Given the description of an element on the screen output the (x, y) to click on. 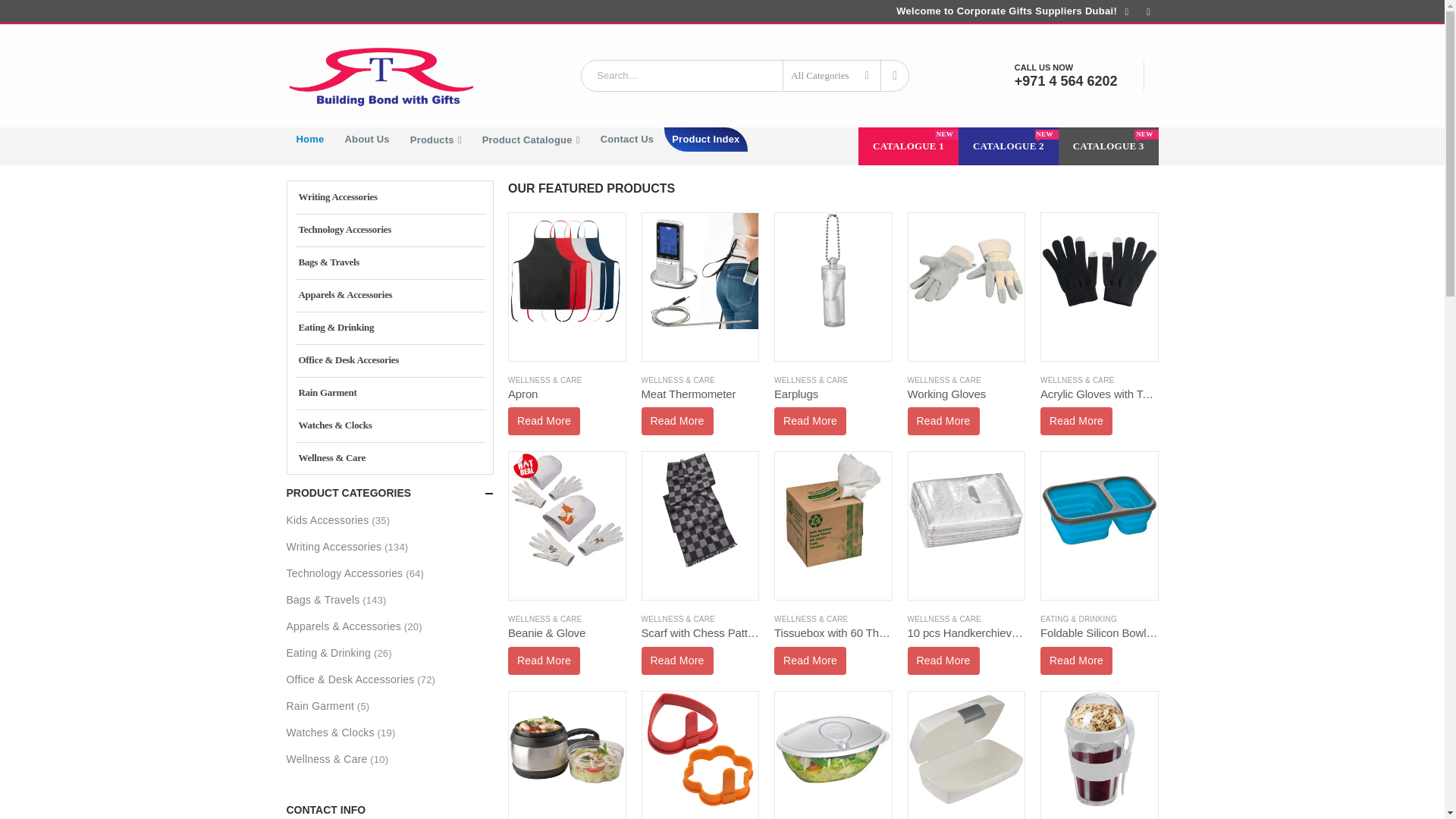
Facebook (1126, 12)
Promotional Gifts Dubai - Promotional Gifts Suppliers (381, 76)
Search (894, 75)
Contact Us (627, 139)
Read More (543, 420)
Apron (567, 406)
Product Catalogue (530, 139)
Twitter (1148, 12)
Read More (677, 420)
Meat Thermometer (701, 406)
About Us (366, 139)
Products (435, 139)
Product Index (704, 139)
Home (310, 139)
